Given the description of an element on the screen output the (x, y) to click on. 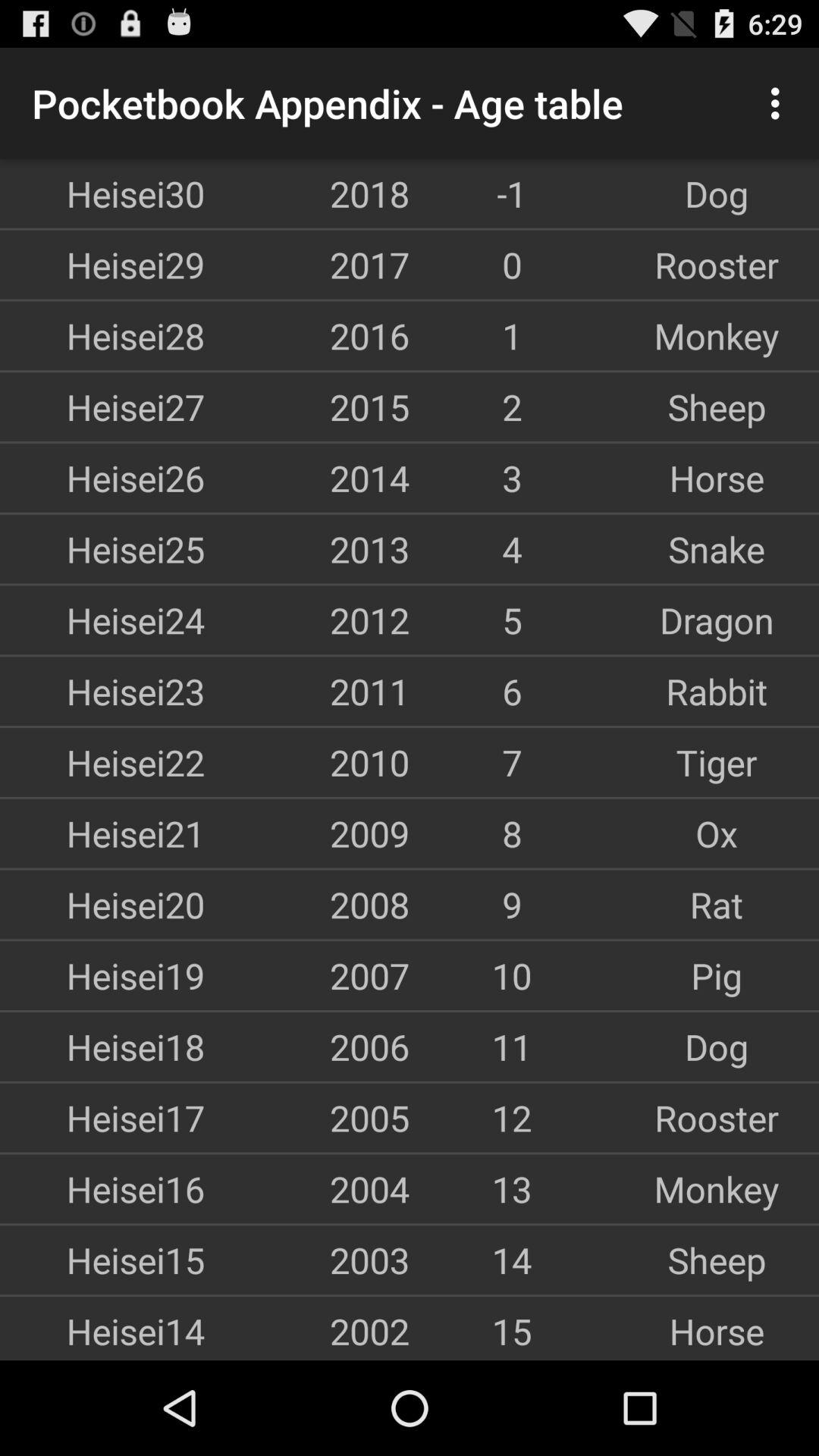
scroll until the 2016 app (306, 335)
